Given the description of an element on the screen output the (x, y) to click on. 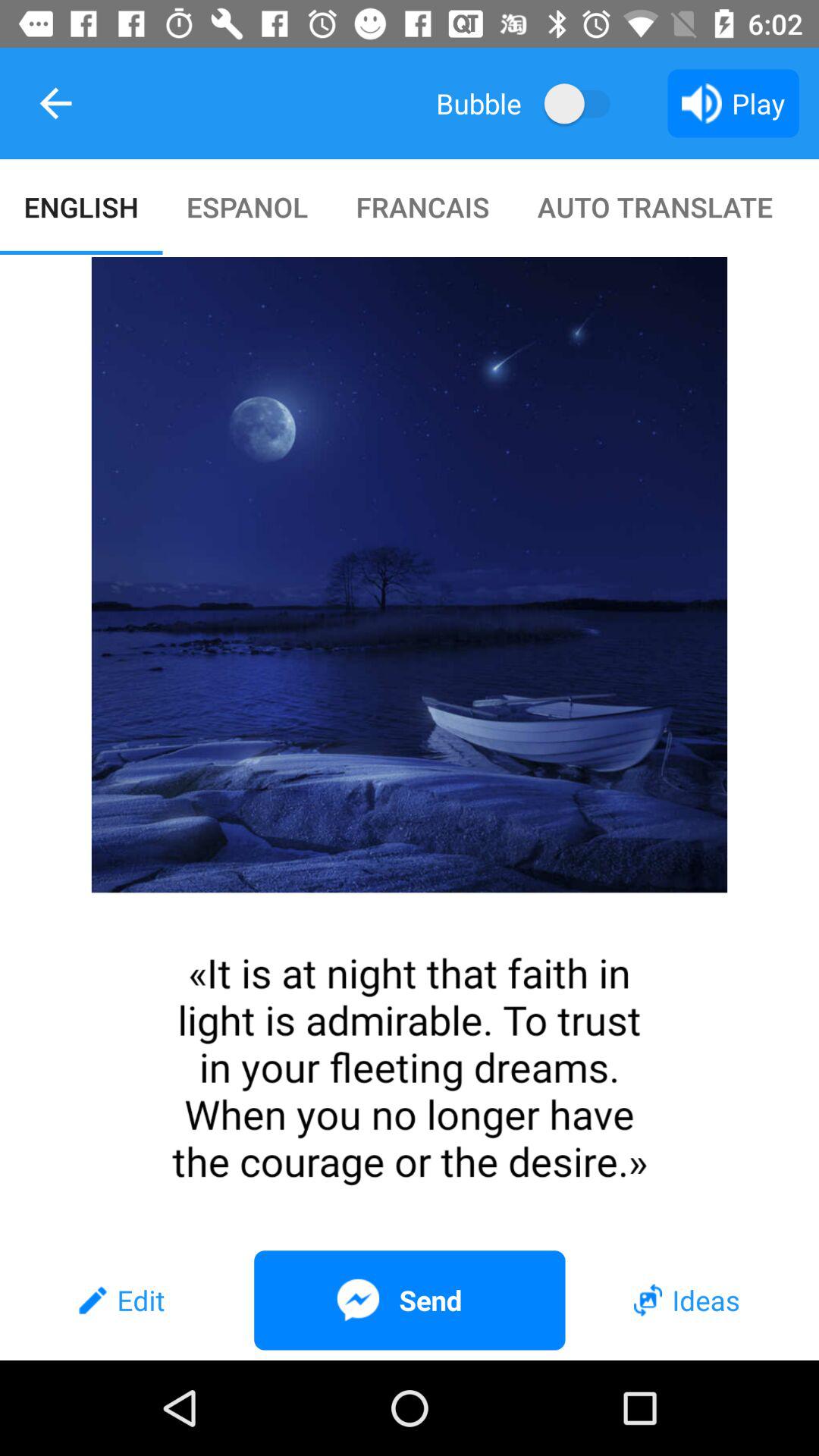
select item below the english icon (409, 748)
